Given the description of an element on the screen output the (x, y) to click on. 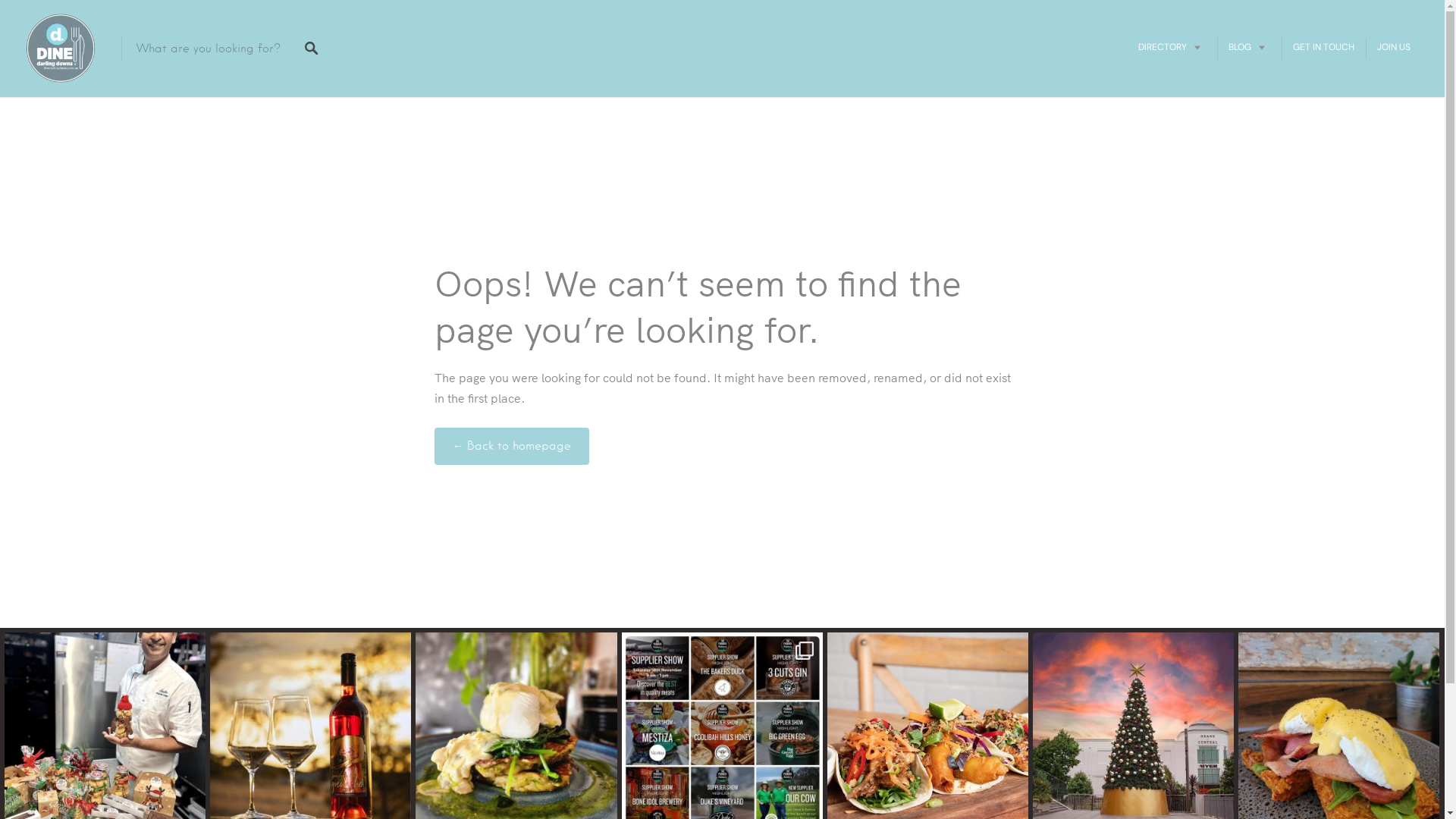
GET IN TOUCH Element type: text (1323, 46)
JOIN US Element type: text (1393, 46)
DIRECTORY Element type: text (1171, 46)
BLOG Element type: text (1249, 46)
